Given the description of an element on the screen output the (x, y) to click on. 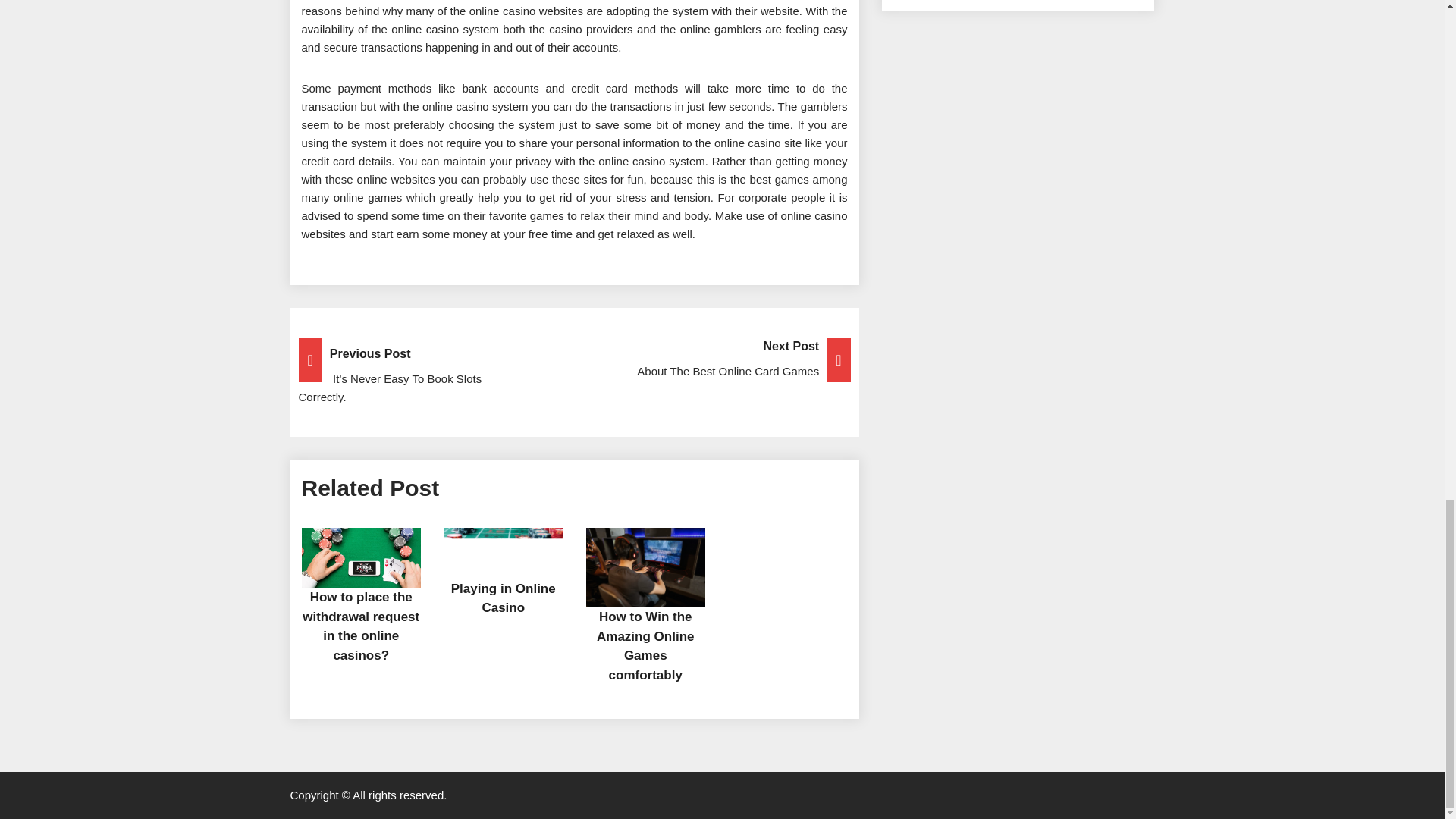
How to Win the Amazing Online Games comfortably (645, 645)
How to place the withdrawal request in the online casinos? (574, 359)
Playing in Online Casino (360, 625)
